Given the description of an element on the screen output the (x, y) to click on. 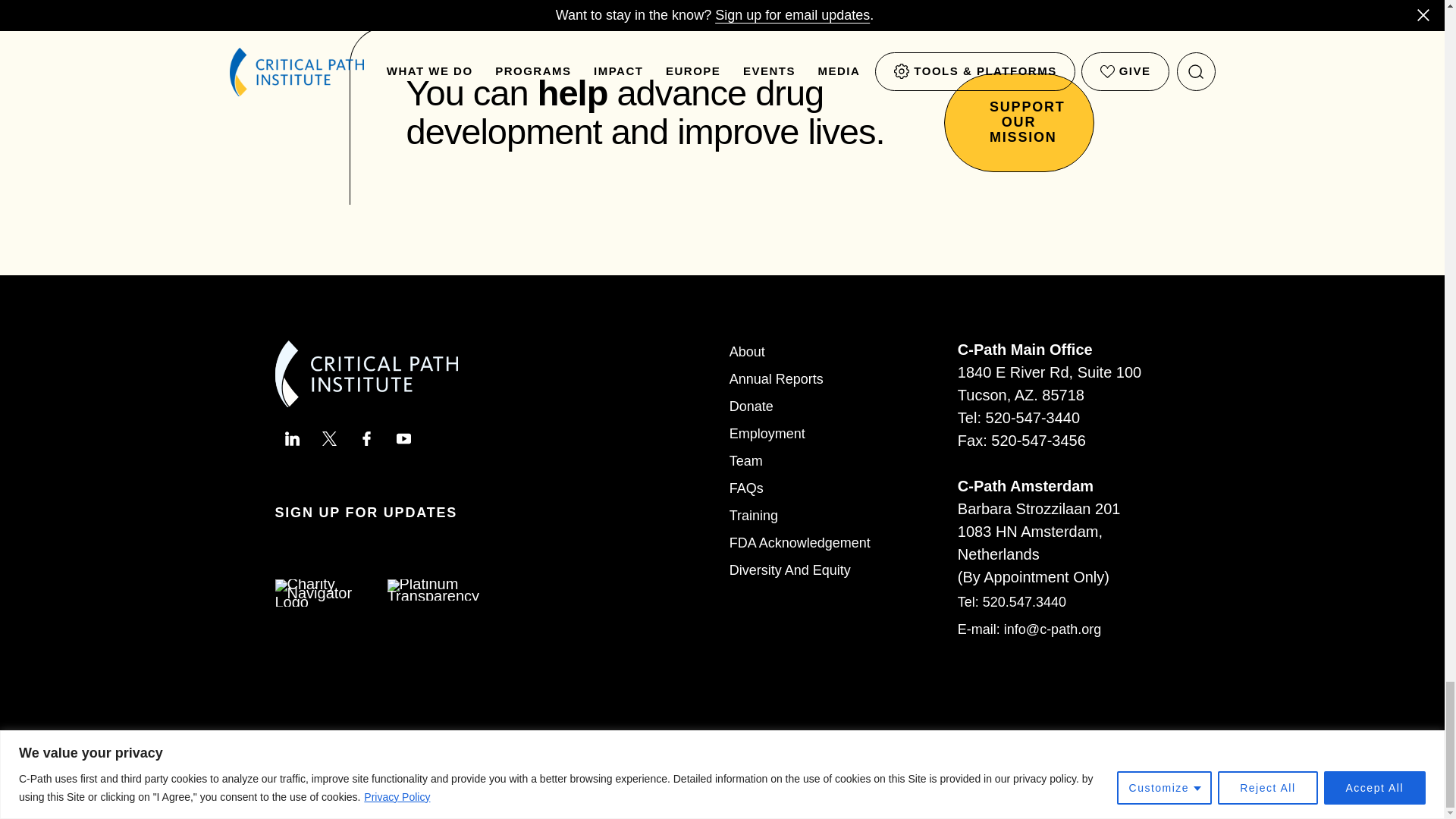
transparency-platinum (433, 589)
Support Our Mission (1018, 122)
charity-navigator (320, 592)
